Given the description of an element on the screen output the (x, y) to click on. 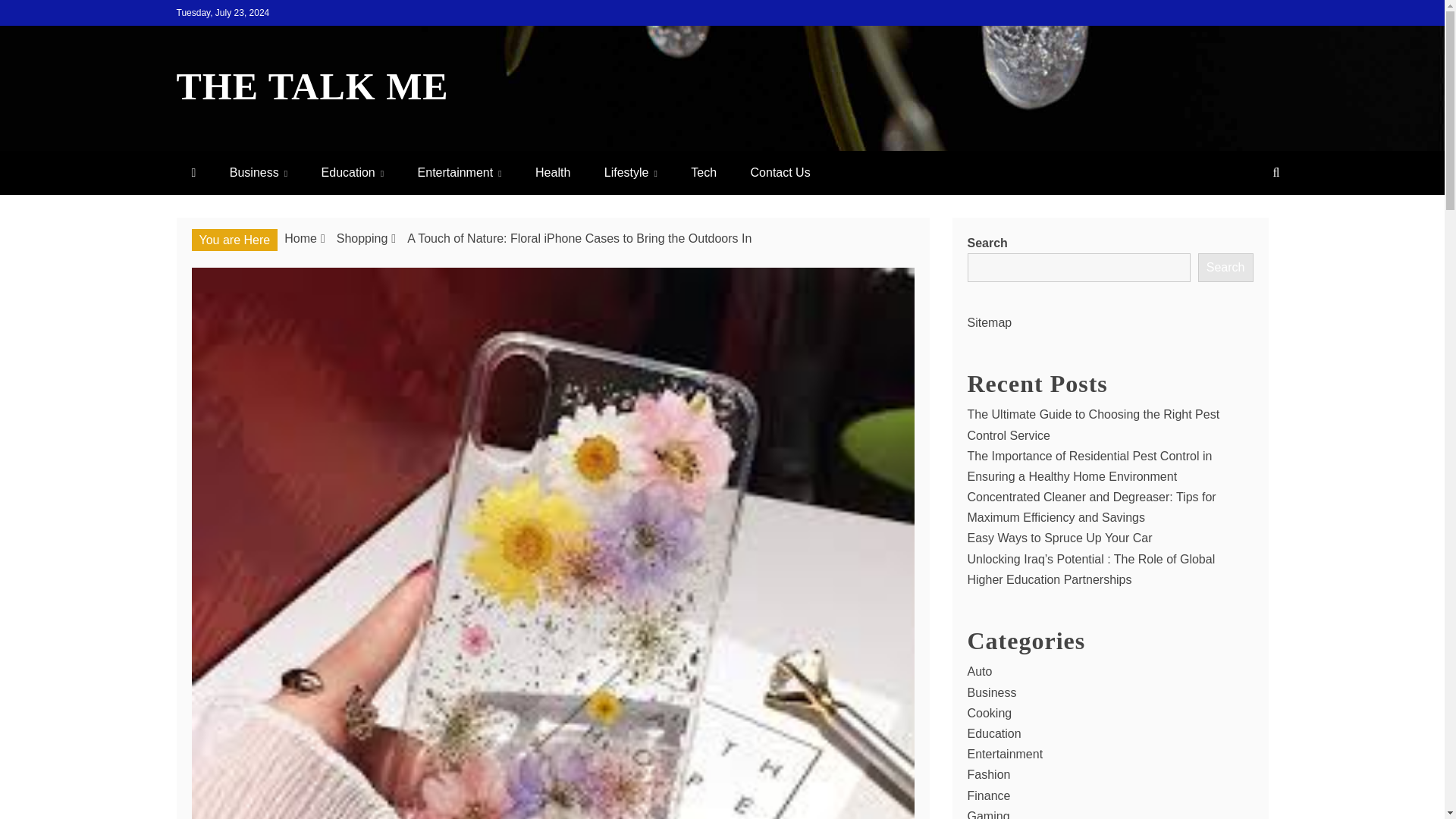
Business (258, 172)
Lifestyle (630, 172)
Entertainment (459, 172)
Tech (703, 172)
Health (552, 172)
Shopping (362, 237)
Home (300, 237)
Education (351, 172)
Contact Us (780, 172)
THE TALK ME (312, 86)
